Given the description of an element on the screen output the (x, y) to click on. 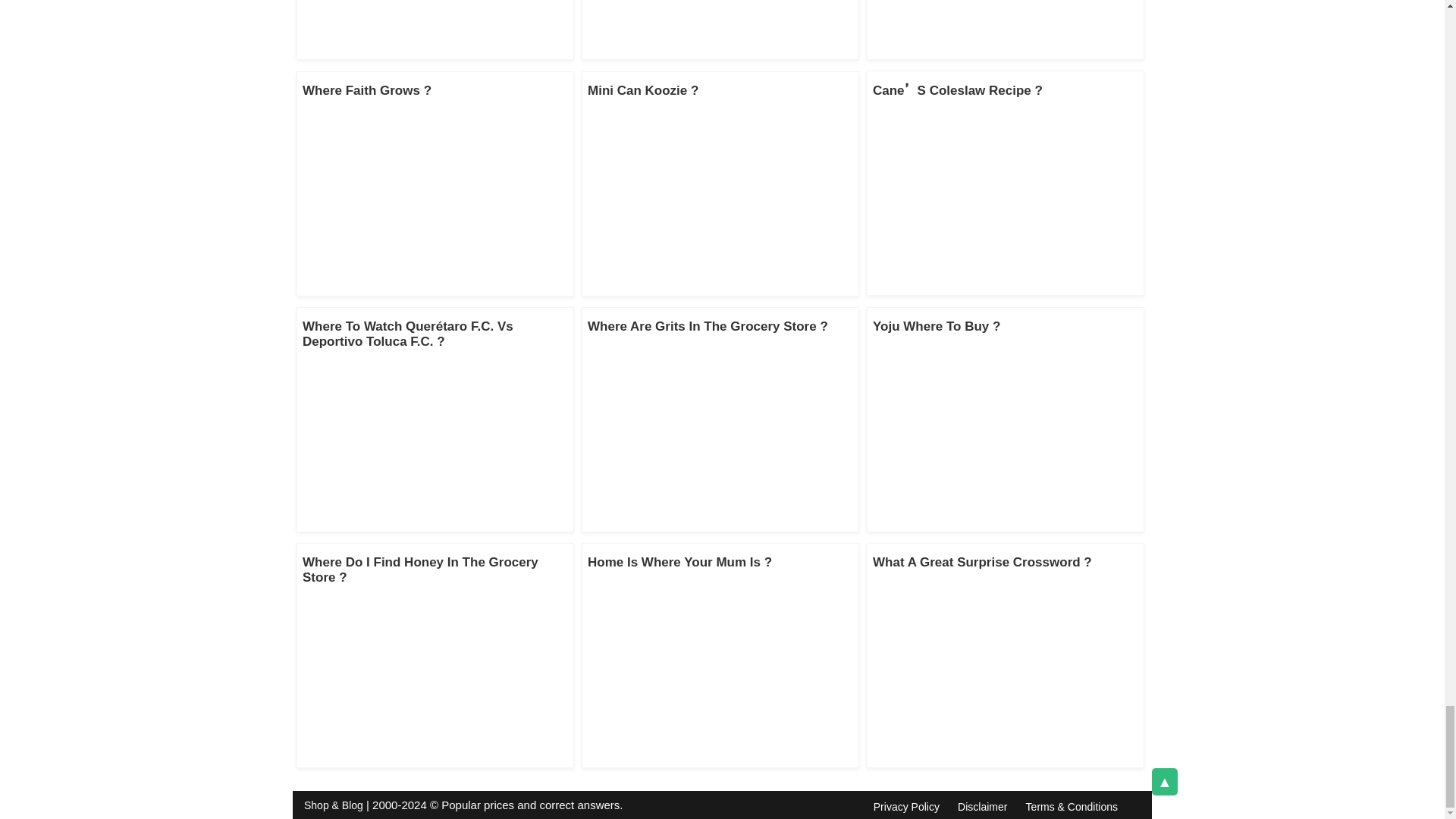
Home Is Where Your Mum Is ? (679, 562)
Where Are Grits In The Grocery Store ? (708, 326)
Where Faith Grows ? (366, 90)
Where Do I Find Honey In The Grocery Store ? (420, 569)
Mini Can Koozie ? (643, 90)
